Given the description of an element on the screen output the (x, y) to click on. 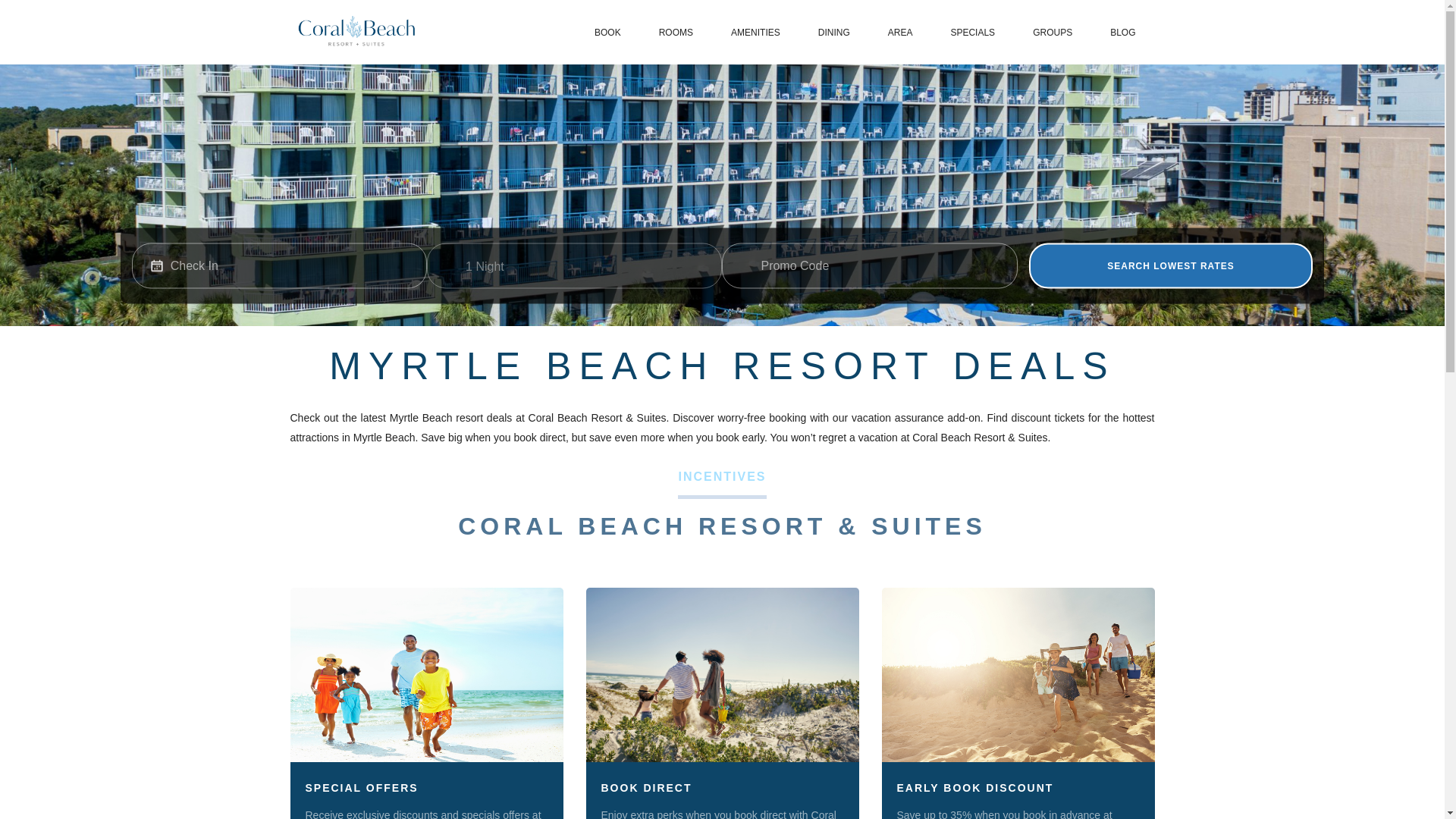
AREA (900, 32)
BLOG (1123, 32)
DINING (833, 32)
GROUPS (1052, 32)
SPECIAL OFFERS (360, 787)
BOOK DIRECT (645, 787)
EARLY BOOK DISCOUNT (974, 787)
Search Lowest Rates (1171, 265)
SPECIALS (972, 32)
Search Lowest Rates (1171, 265)
AMENITIES (755, 32)
BOOK (607, 32)
ROOMS (675, 32)
